Given the description of an element on the screen output the (x, y) to click on. 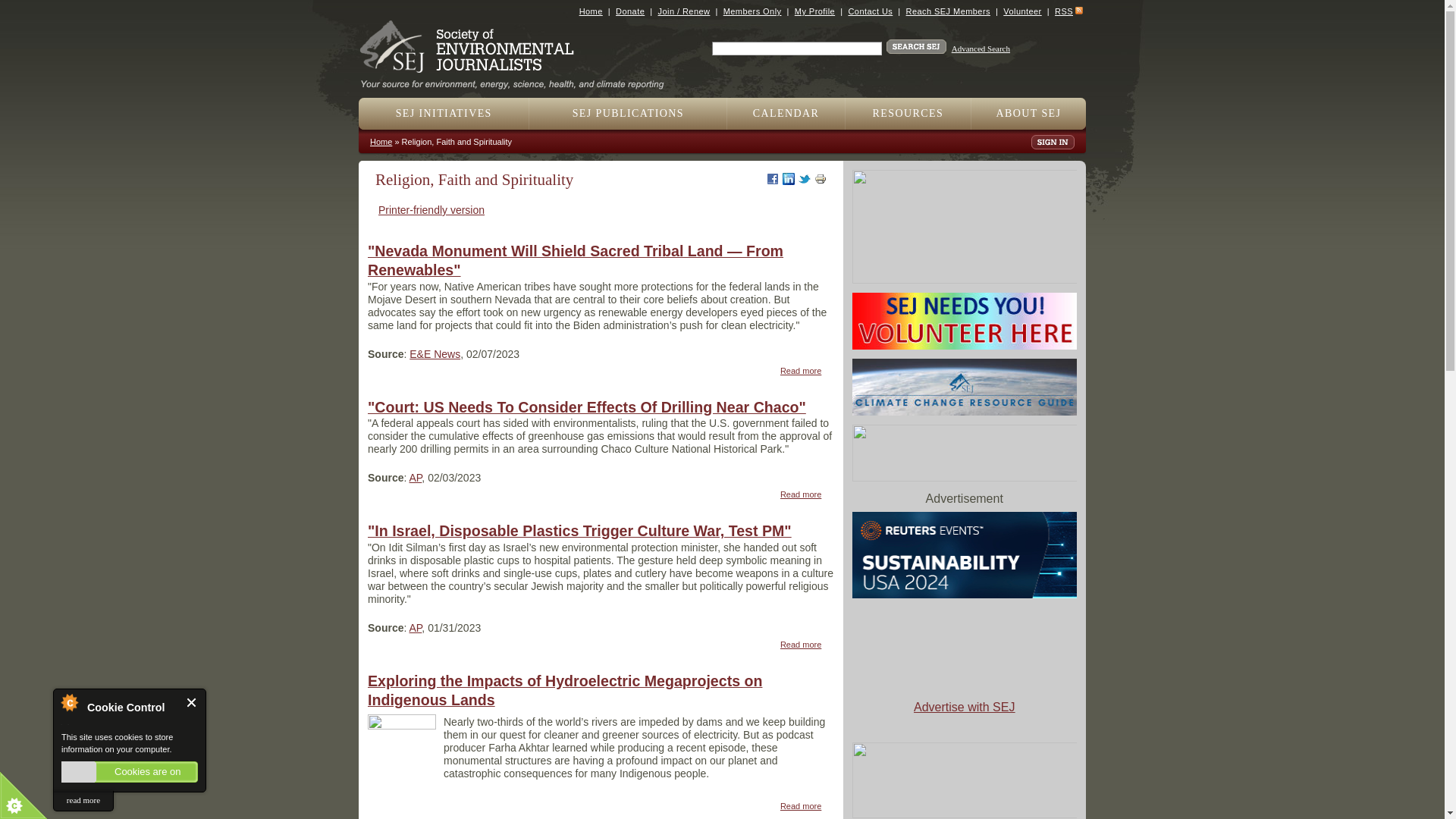
Enter the terms you wish to search for. (796, 48)
Home (590, 10)
RSS (1063, 10)
Members Only (752, 10)
SEJ INITIATIVES (443, 113)
My Profile (814, 10)
Volunteer (1022, 10)
read more (82, 801)
Contact Us (869, 10)
Close (191, 702)
